Given the description of an element on the screen output the (x, y) to click on. 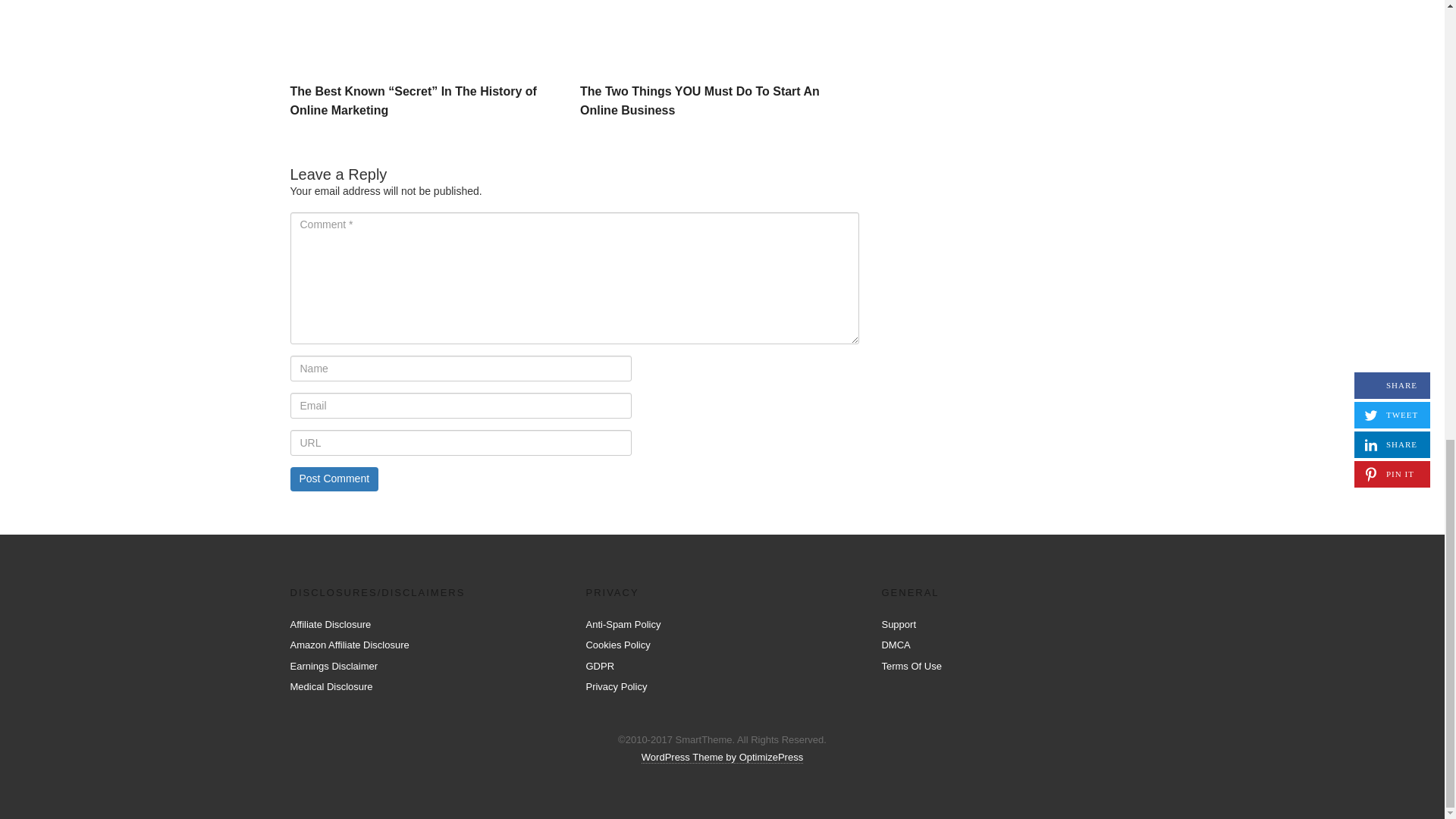
The Two Things YOU Must Do To Start An Online Business (719, 38)
Post Comment (333, 478)
The Two Things YOU Must Do To Start An Online Business (699, 101)
Post Comment (333, 478)
Amazon Affiliate Disclosure (349, 644)
Affiliate Disclosure (330, 624)
